Given the description of an element on the screen output the (x, y) to click on. 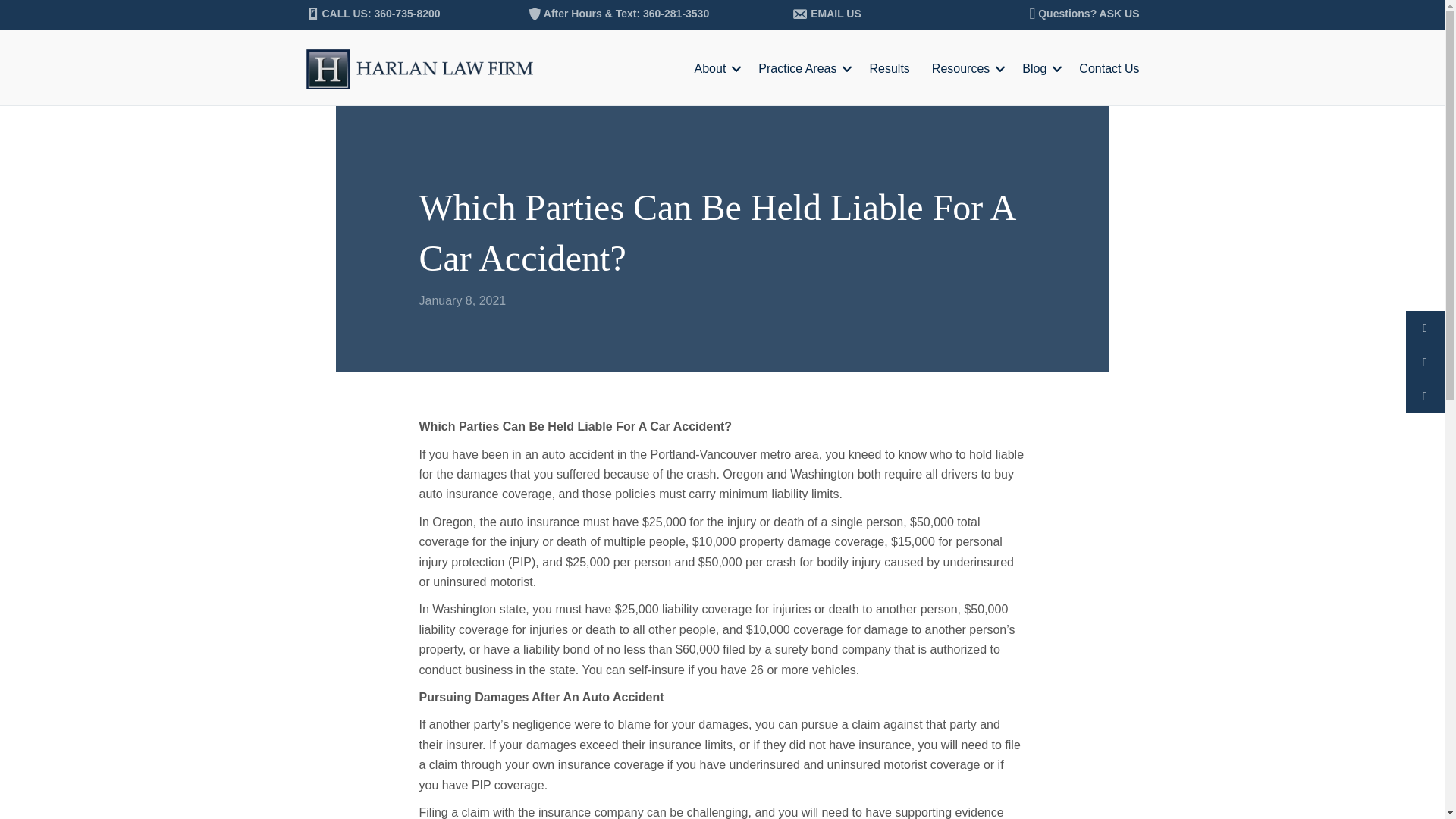
Practice Areas (802, 68)
Contact Us (1103, 68)
360-735-8200 (406, 13)
Resources (965, 68)
harlan-law-firm (418, 69)
360-281-3530 (676, 13)
ASK US (1119, 13)
EMAIL US (835, 13)
Blog (1039, 68)
Results (889, 68)
